Given the description of an element on the screen output the (x, y) to click on. 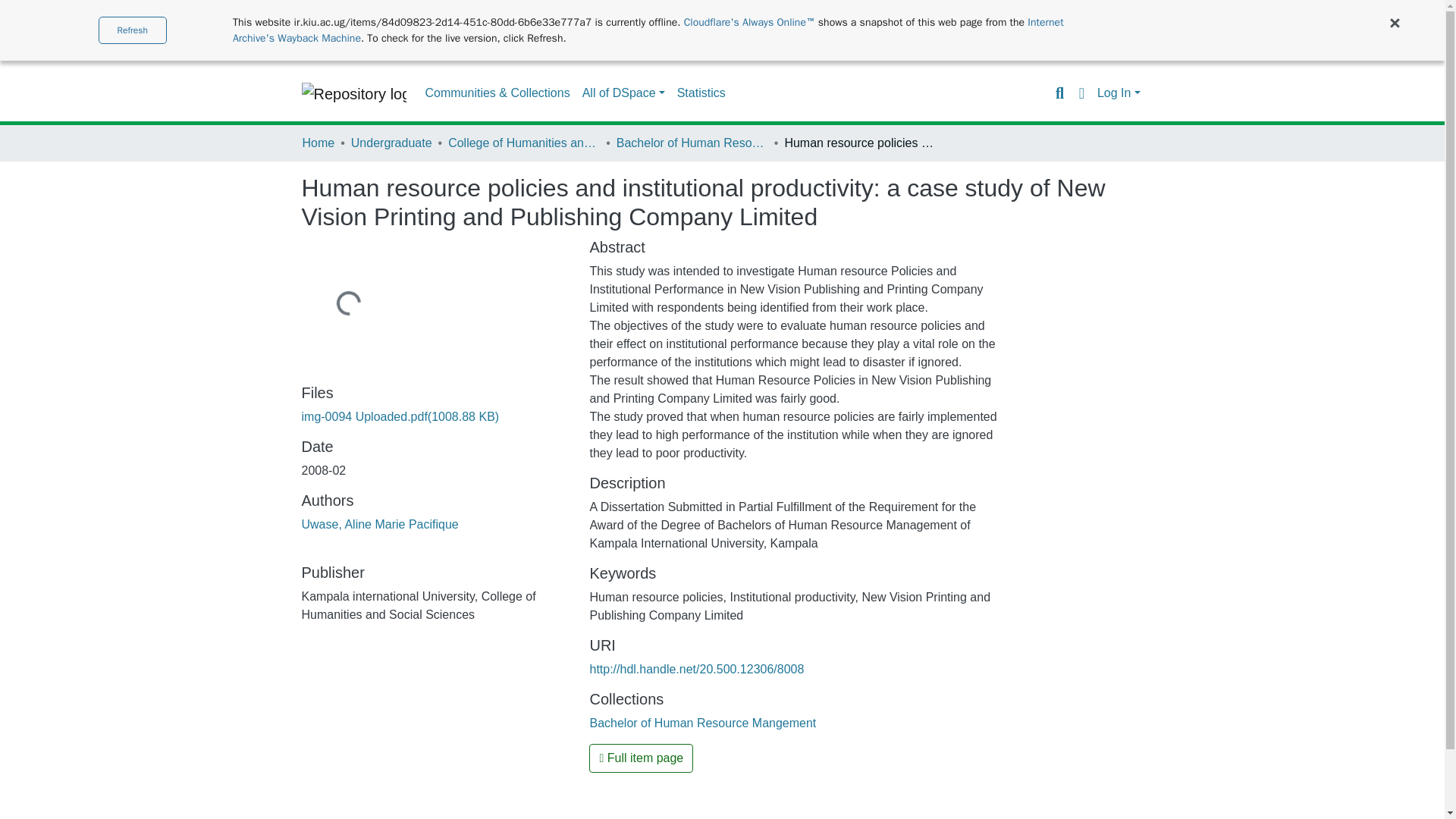
Language switch (1081, 93)
Search (1058, 93)
Bachelor of Human Resource Mangement (691, 143)
Bachelor of Human Resource Mangement (702, 722)
Statistics (701, 92)
Uwase, Aline Marie Pacifique (379, 523)
Log In (1118, 92)
Home (317, 143)
Internet Archive's Wayback Machine (648, 30)
Full item page (641, 758)
